Given the description of an element on the screen output the (x, y) to click on. 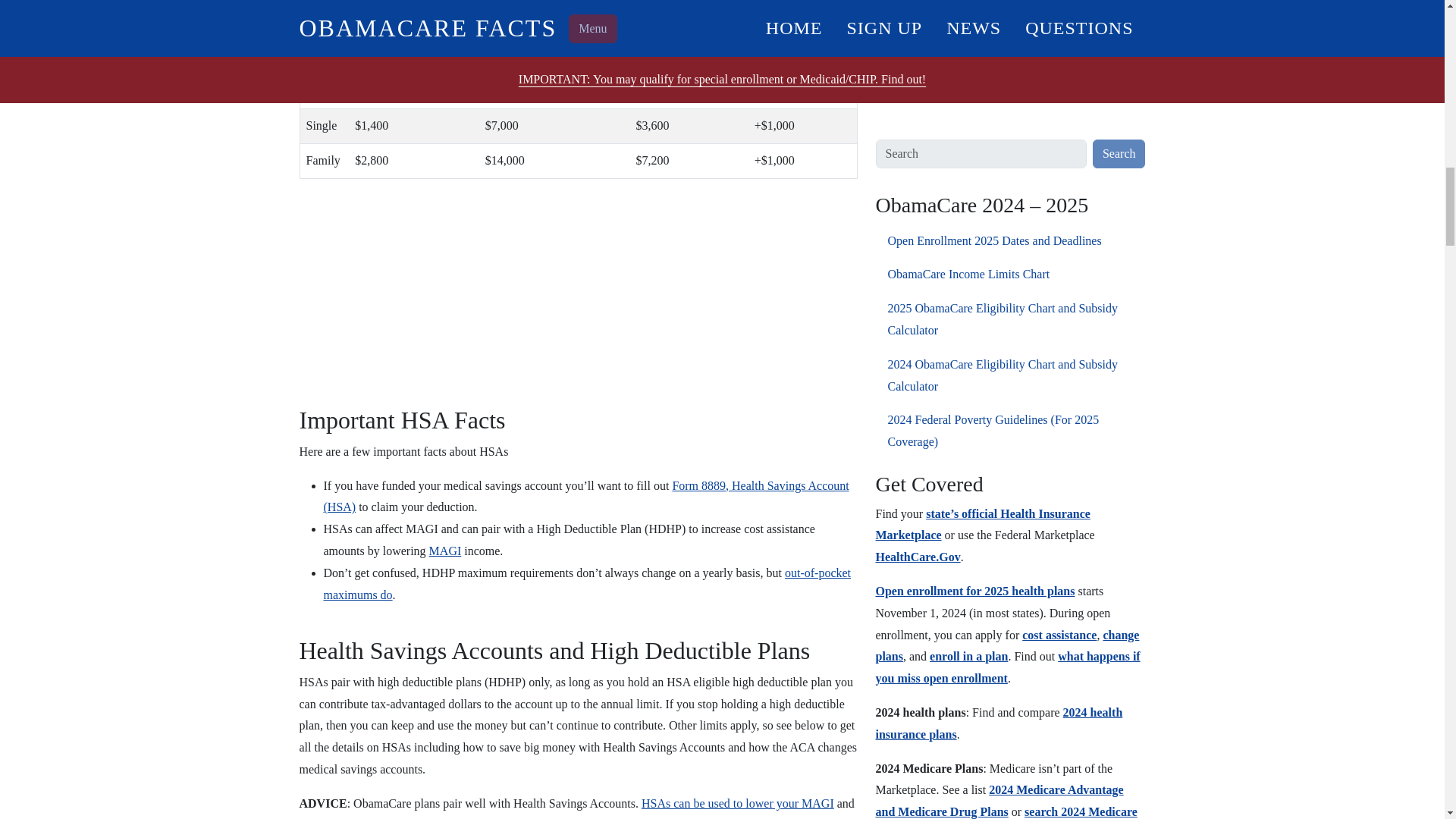
health savings account form 8889 (585, 496)
